Given the description of an element on the screen output the (x, y) to click on. 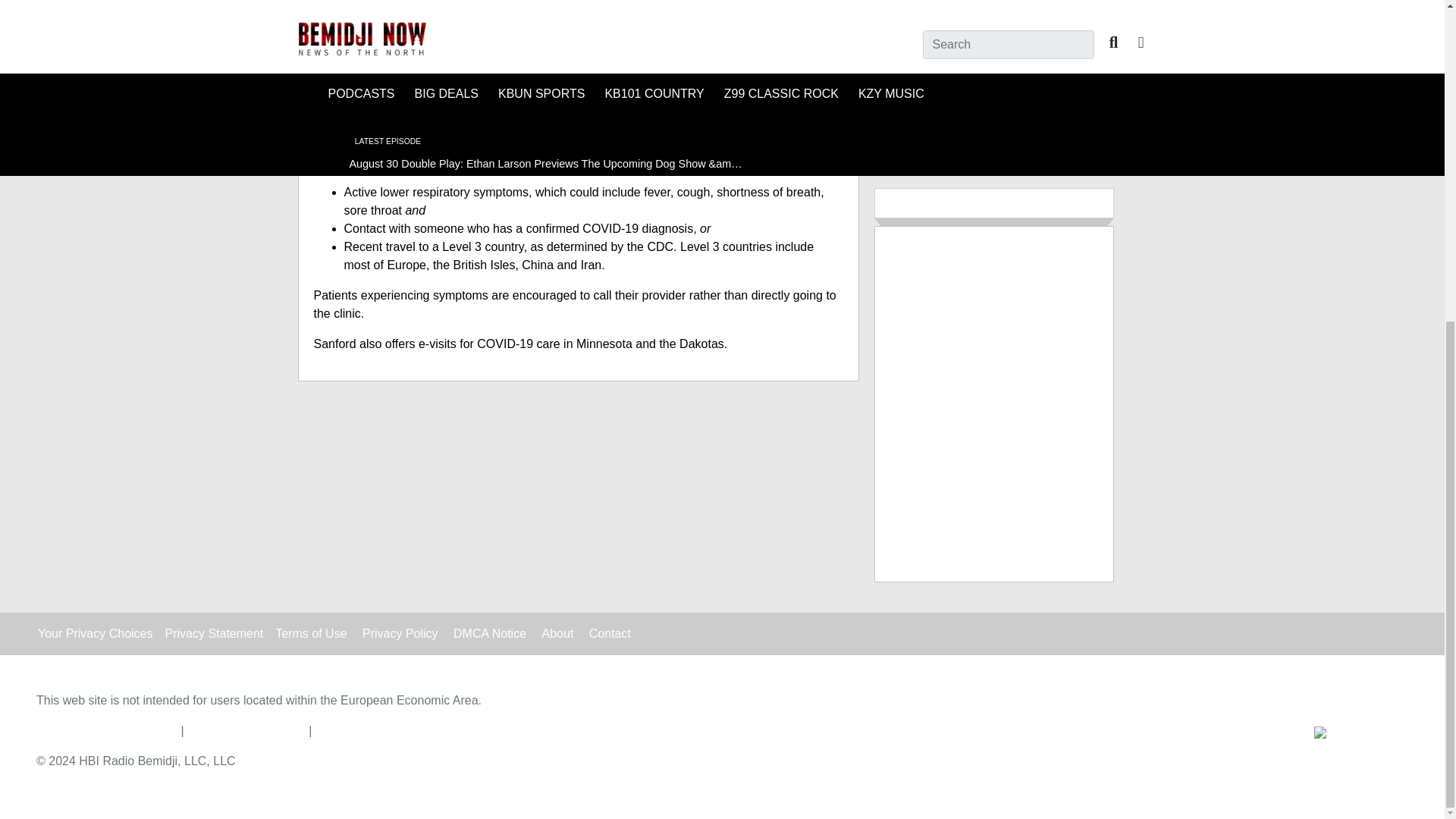
Terms of Use (310, 632)
Your Privacy Choices (94, 632)
Privacy Statement (213, 632)
MORE (993, 119)
UNITED WAY COATS FOR THE COMMUNITY COLLECTION BEGINS (1039, 33)
